Given the description of an element on the screen output the (x, y) to click on. 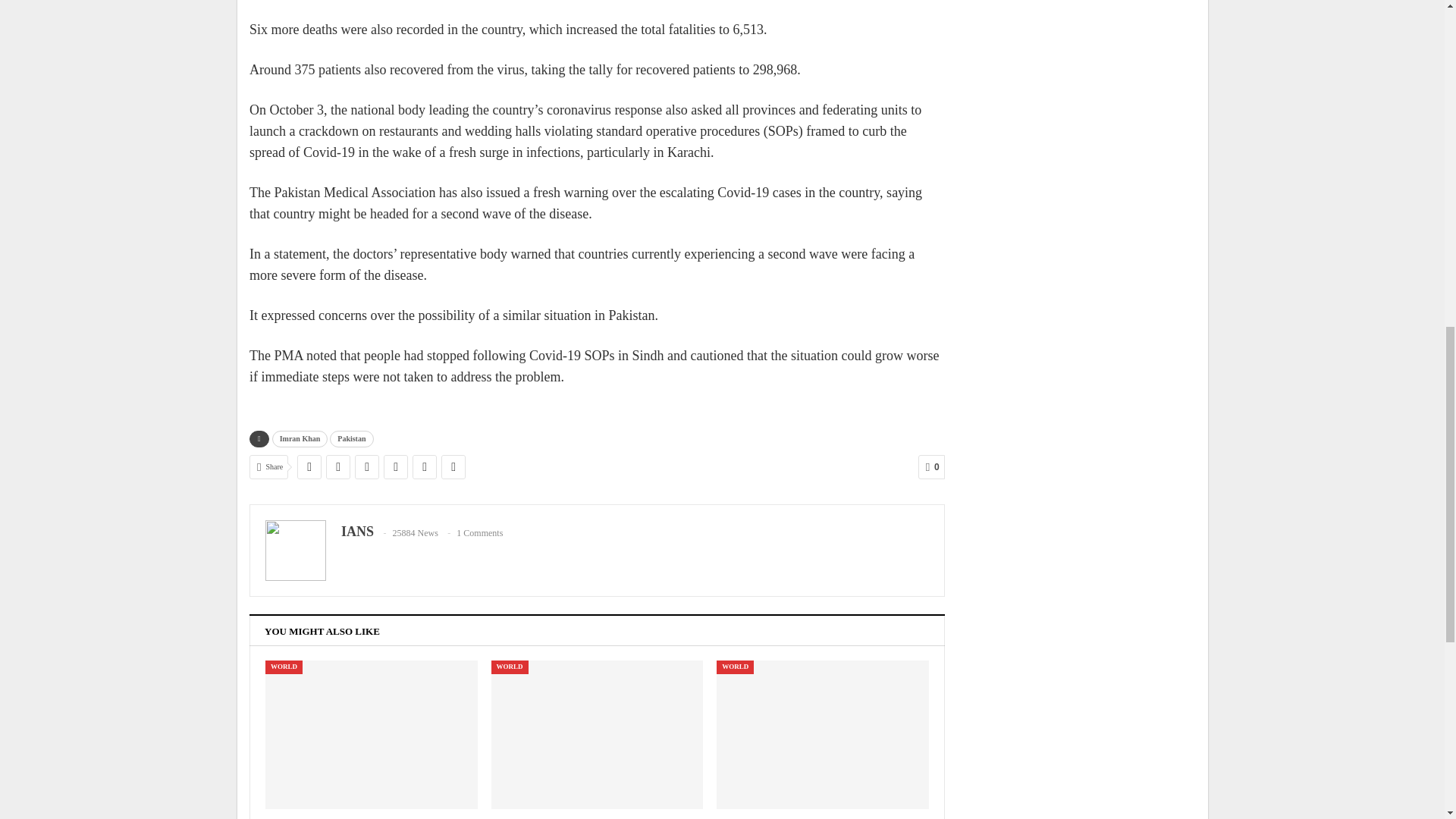
Pakistan (351, 438)
Hezbollah launches rockets on Israeli military base (822, 734)
IANS (357, 531)
0 (931, 467)
Imran Khan (300, 438)
